Given the description of an element on the screen output the (x, y) to click on. 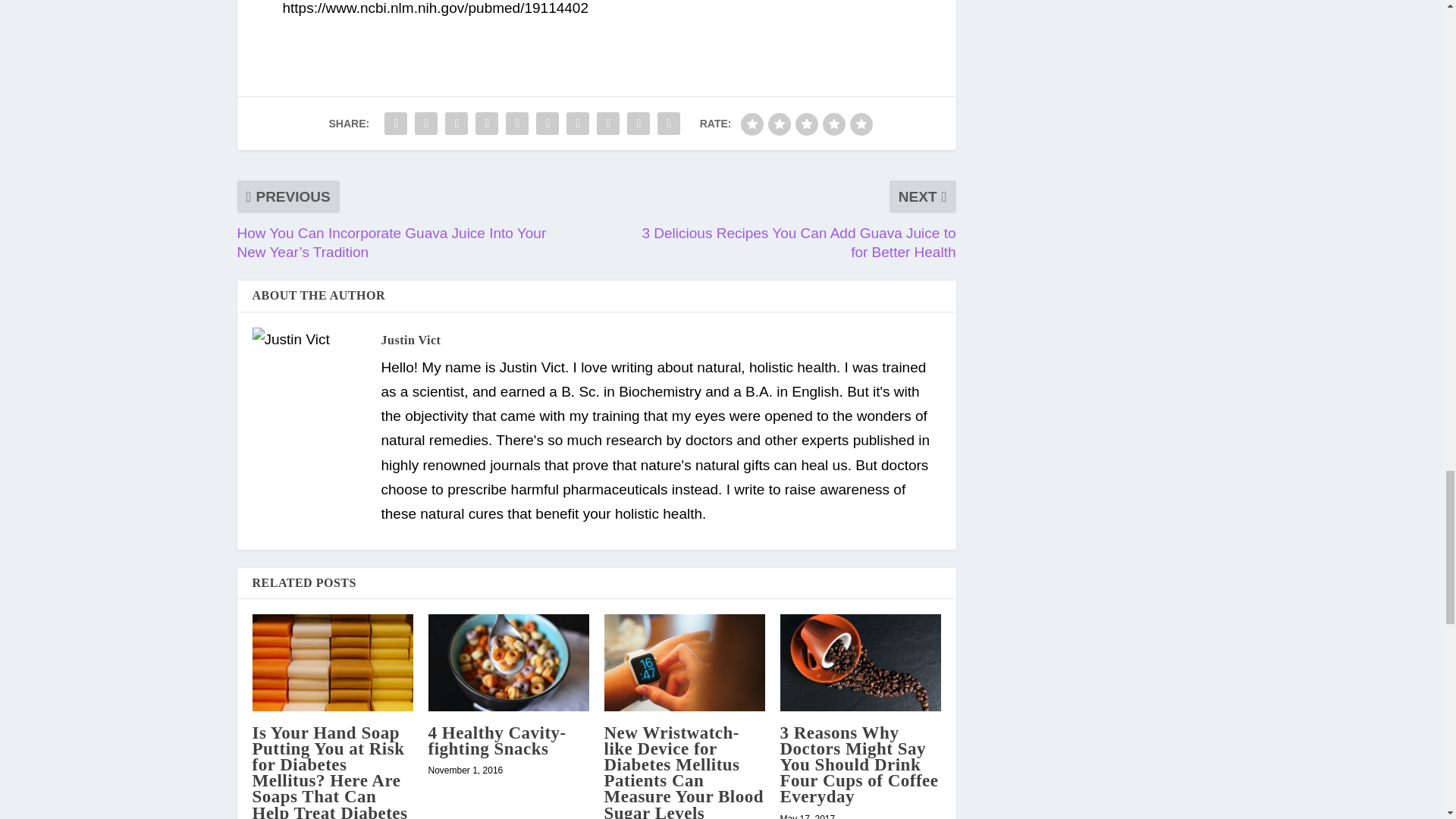
Share "Guava Juice Is Becoming More Mainstream" via LinkedIn (547, 123)
Share "Guava Juice Is Becoming More Mainstream" via Twitter (425, 123)
Share "Guava Juice Is Becoming More Mainstream" via Facebook (395, 123)
Share "Guava Juice Is Becoming More Mainstream" via Tumblr (486, 123)
